Given the description of an element on the screen output the (x, y) to click on. 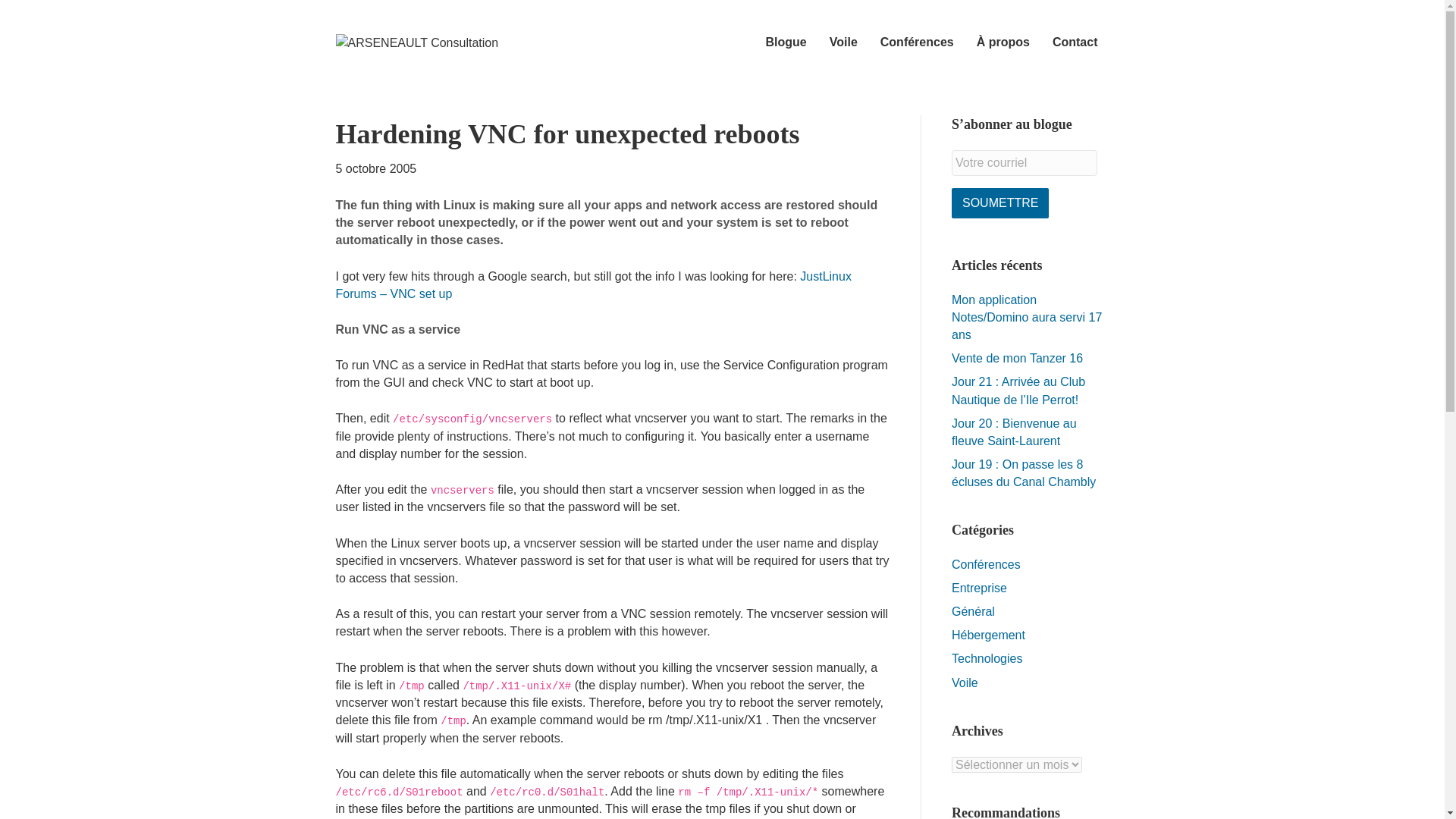
Soumettre (1000, 203)
Vente de mon Tanzer 16 (1017, 358)
Blogue (786, 42)
Voile (965, 682)
Contact (1075, 42)
Soumettre (1000, 203)
Voile (843, 42)
Jour 20 : Bienvenue au fleuve Saint-Laurent (1014, 431)
Entreprise (979, 587)
Technologies (987, 658)
